Given the description of an element on the screen output the (x, y) to click on. 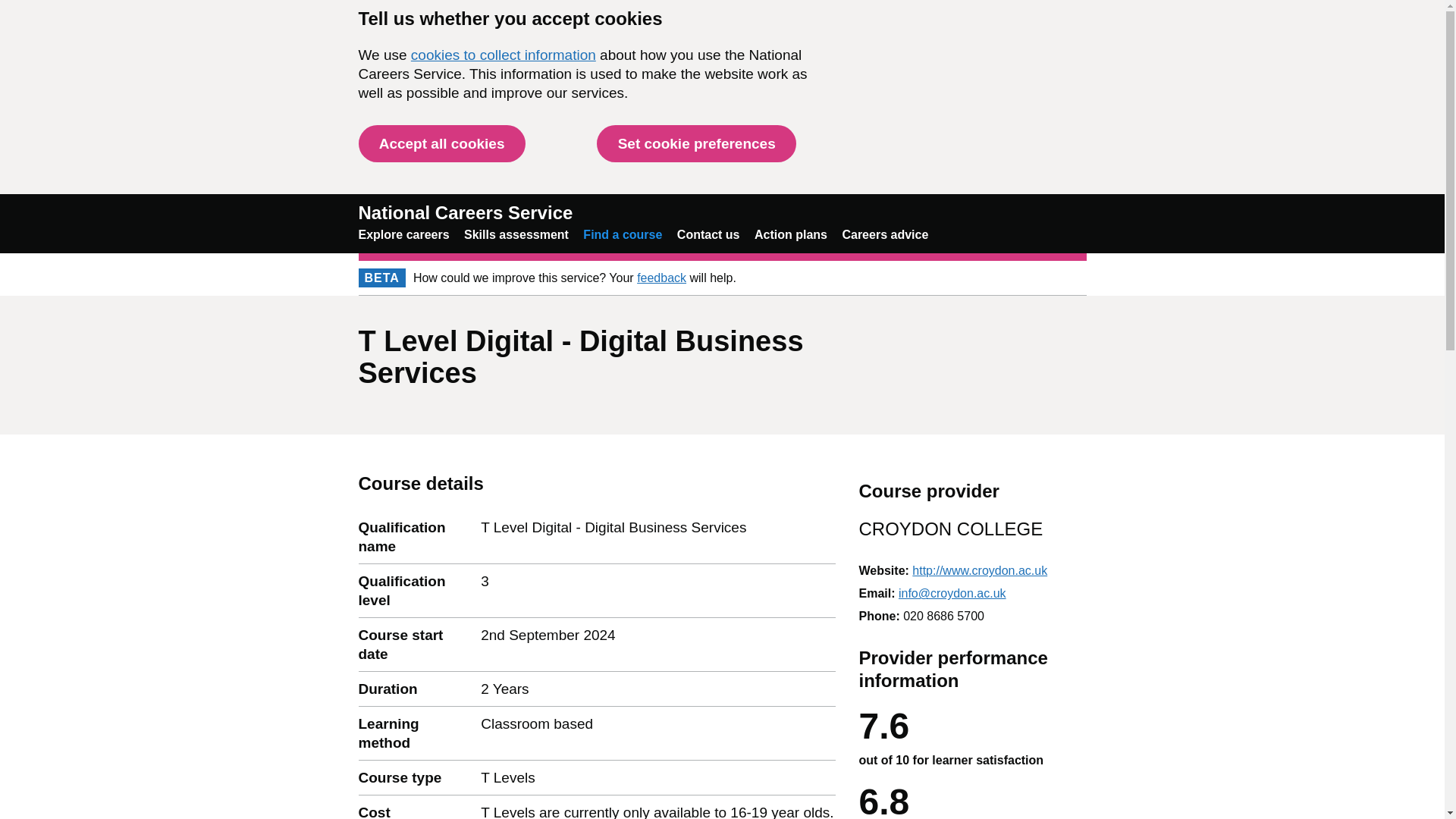
Contact us (708, 234)
Skip to main content (11, 7)
Explore careers (403, 234)
Set cookie preferences (695, 143)
Skills assessment (516, 234)
cookies to collect information (502, 54)
Action plans (790, 234)
Careers advice (884, 234)
Find a course (622, 234)
feedback (661, 277)
National Careers Service (465, 212)
Accept all cookies (441, 143)
